Given the description of an element on the screen output the (x, y) to click on. 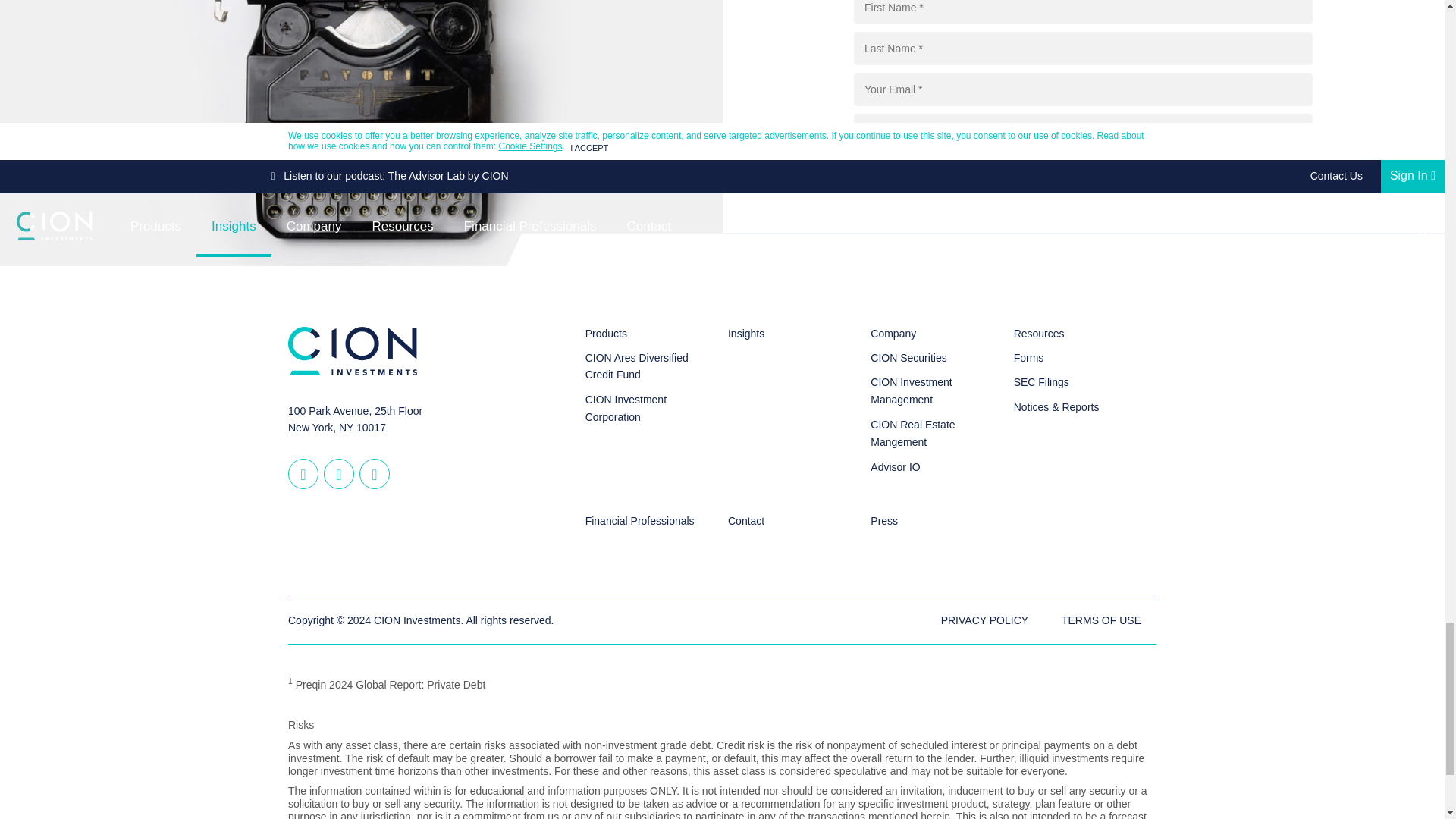
Home (352, 350)
